Given the description of an element on the screen output the (x, y) to click on. 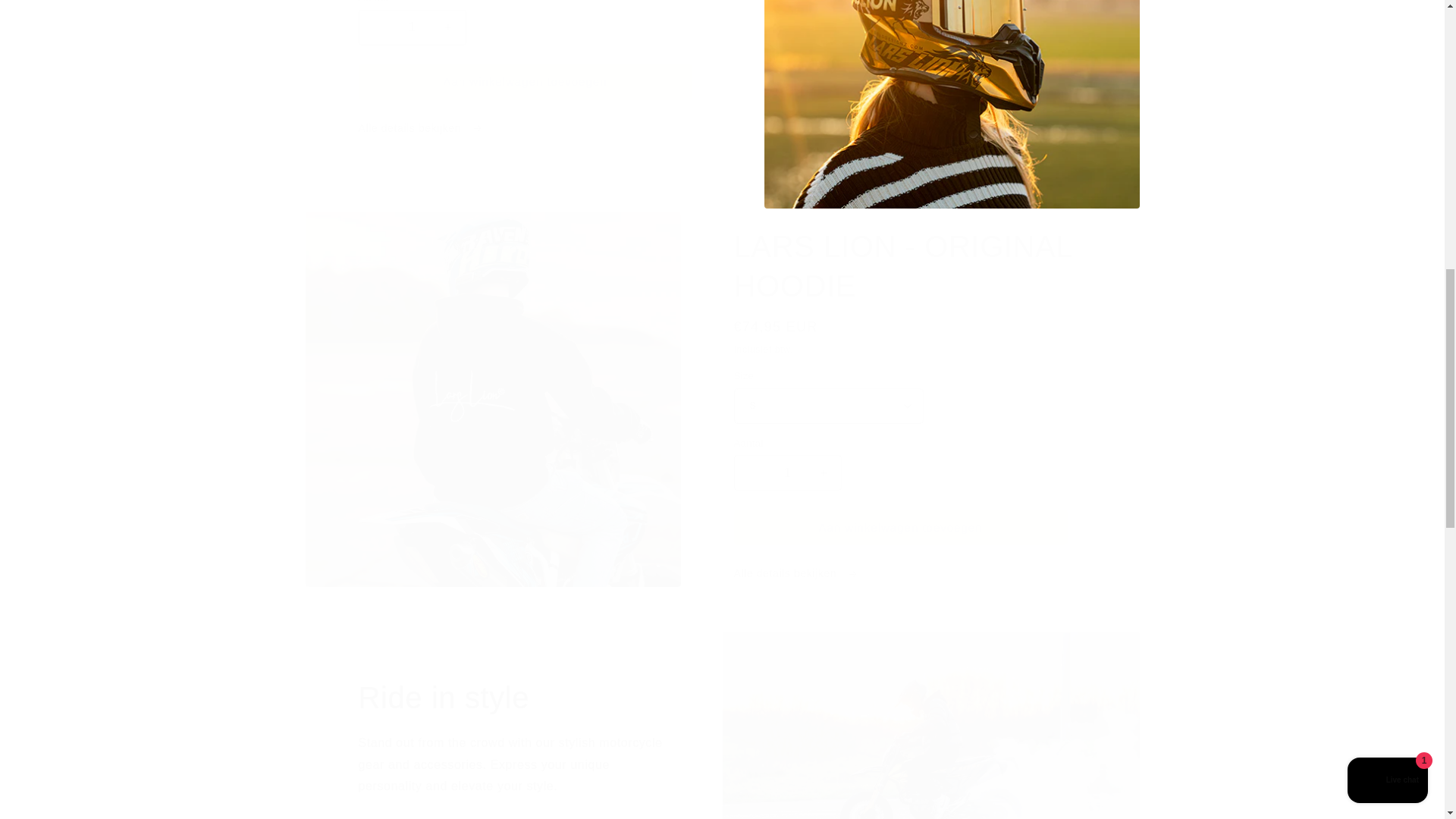
Aantal verlagen voor LARS LION - ORIGINAL HOODIE (750, 472)
Aan winkelwagen toevoegen (524, 81)
Aan winkelwagen toevoegen (900, 527)
Alle details bekijken (909, 573)
1 (787, 472)
Aantal verhogen voor LARS LION - ORIGINAL HOODIE (823, 472)
Media 1 openen in modaal (952, 104)
1 (411, 27)
Alle details bekijken (534, 128)
Aantal verhogen voor LARS LION - GOLD GOGGLES (447, 27)
Aantal verlagen voor LARS LION - GOLD GOGGLES (376, 27)
